Given the description of an element on the screen output the (x, y) to click on. 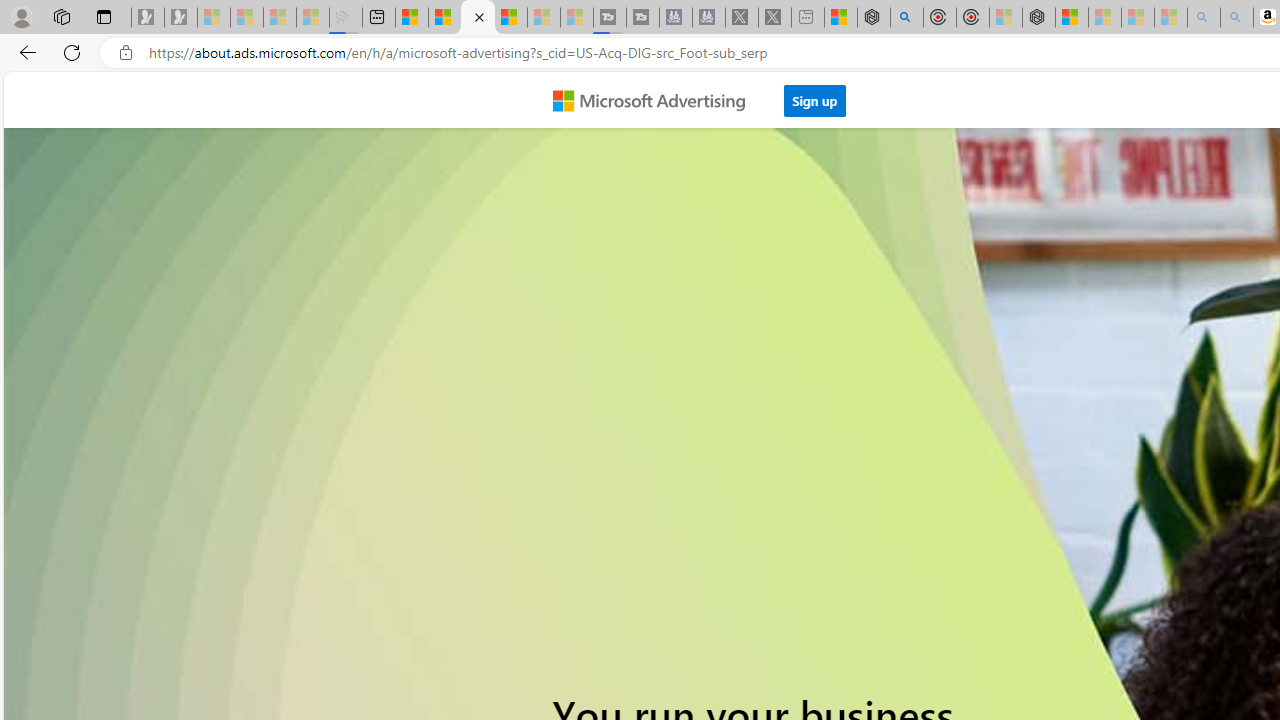
Streaming Coverage | T3 - Sleeping (609, 17)
poe - Search (906, 17)
New tab - Sleeping (808, 17)
Amazon Echo Dot PNG - Search Images - Sleeping (1237, 17)
Microsoft Start - Sleeping (543, 17)
